Given the description of an element on the screen output the (x, y) to click on. 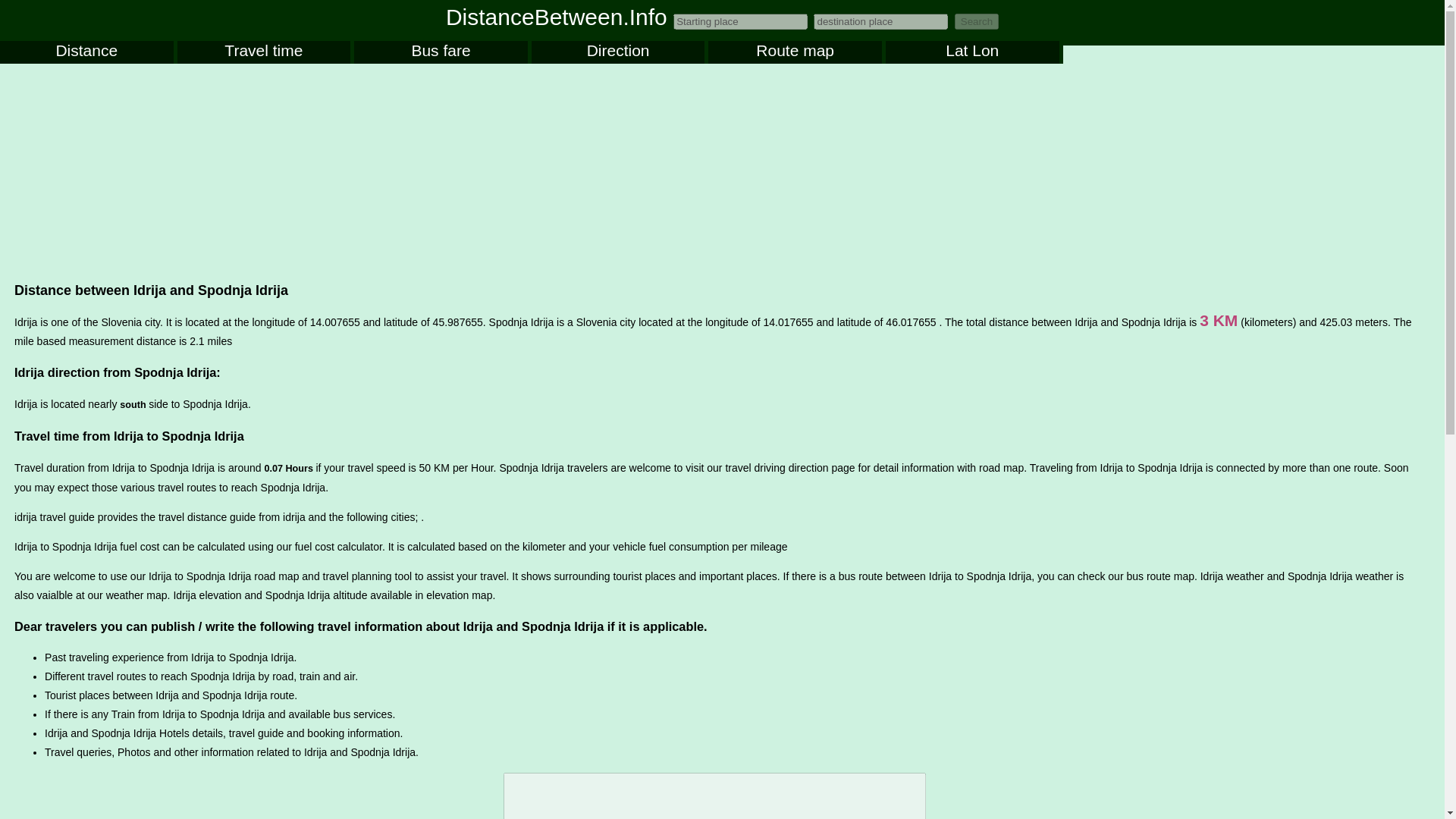
Distance (86, 51)
Starting place (740, 21)
Search (976, 21)
destination place (880, 21)
Lat Lon (972, 51)
Direction (617, 51)
Travel time (263, 51)
Route map (794, 51)
Bus fare (440, 51)
